Given the description of an element on the screen output the (x, y) to click on. 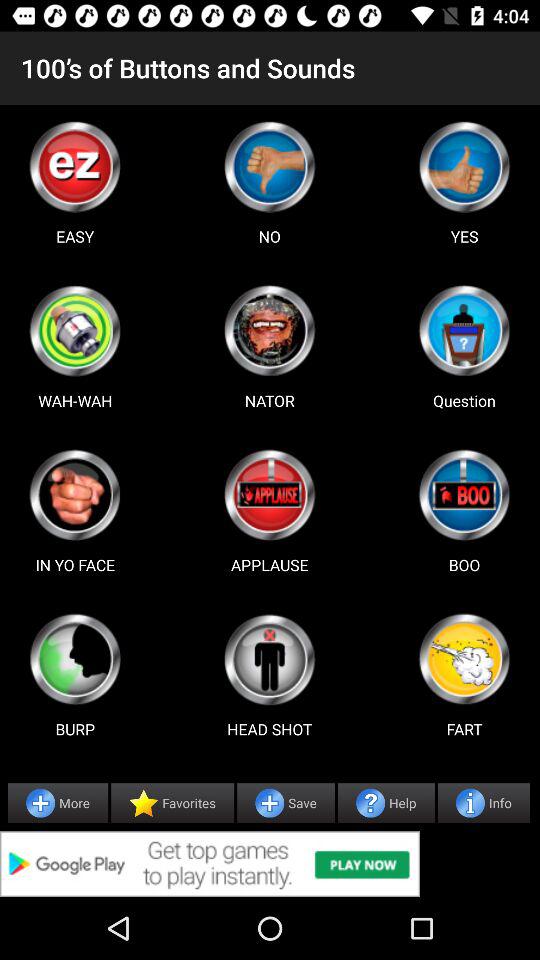
image button (464, 659)
